Given the description of an element on the screen output the (x, y) to click on. 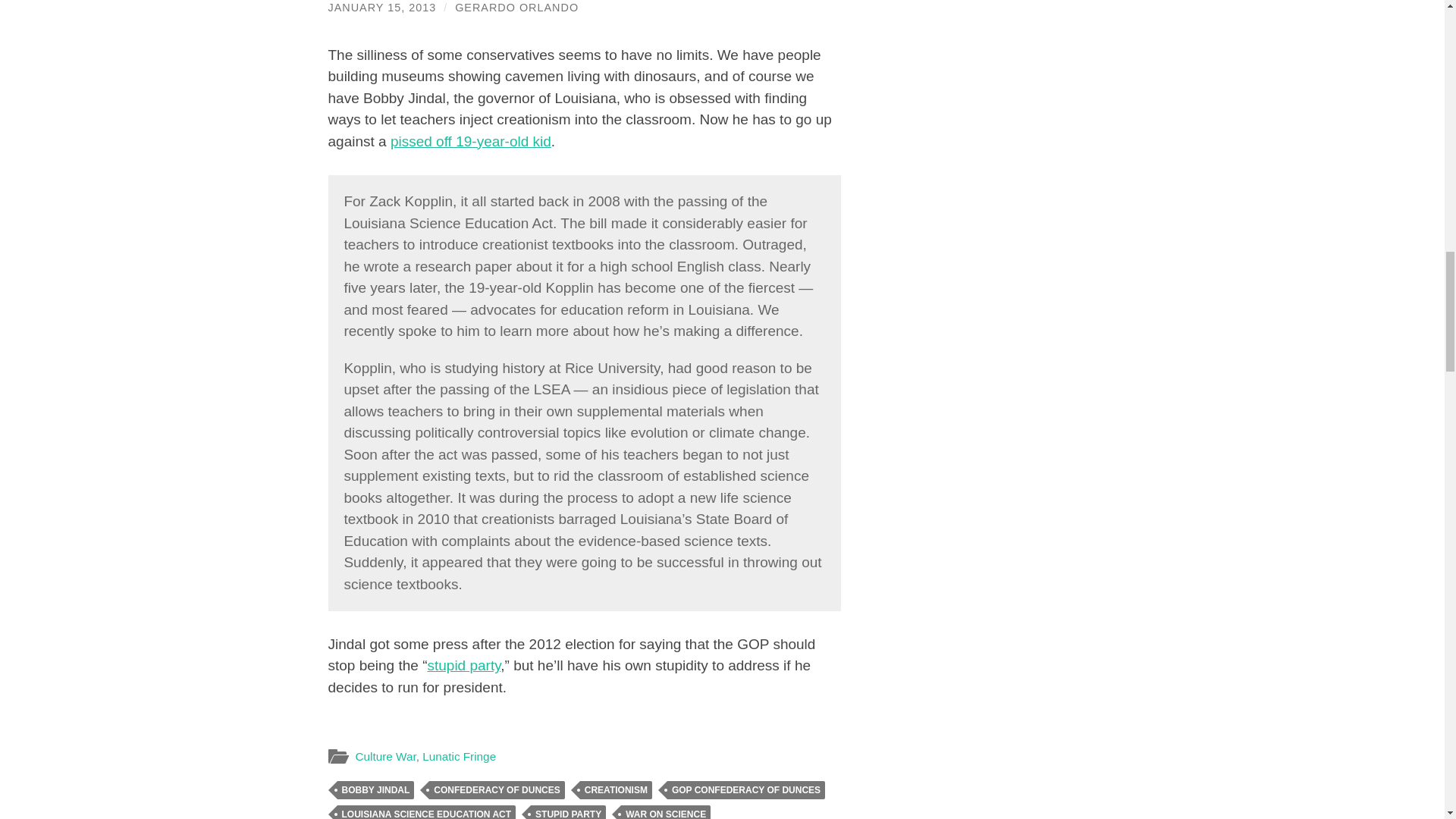
Culture War (384, 756)
pissed off 19-year-old kid (470, 141)
Posts by Gerardo Orlando (516, 7)
JANUARY 15, 2013 (381, 7)
GERARDO ORLANDO (516, 7)
stupid party (463, 665)
